Given the description of an element on the screen output the (x, y) to click on. 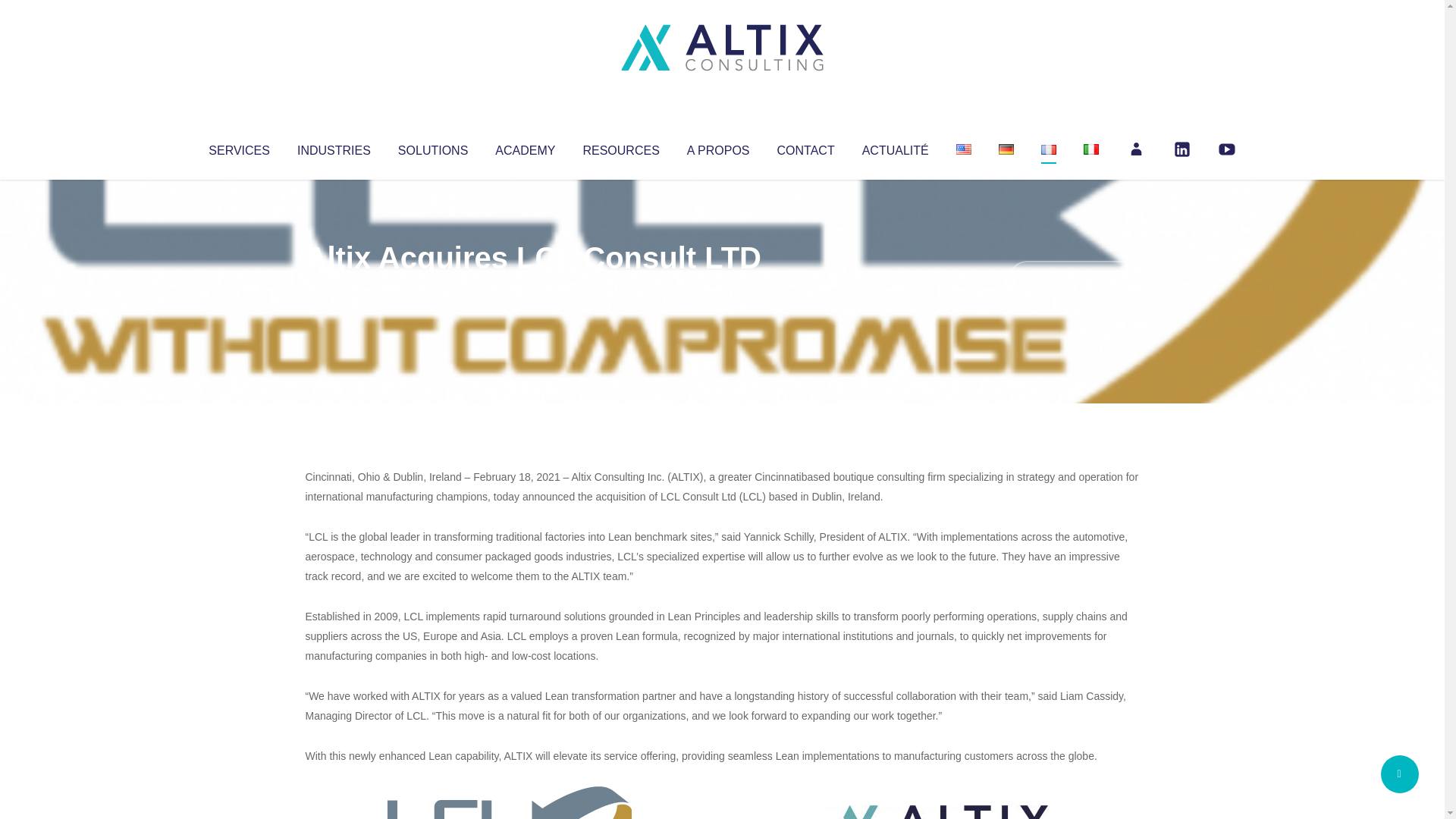
RESOURCES (620, 146)
Articles par Altix (333, 287)
ACADEMY (524, 146)
SERVICES (238, 146)
SOLUTIONS (432, 146)
No Comments (1073, 278)
Altix (333, 287)
INDUSTRIES (334, 146)
Uncategorized (530, 287)
A PROPOS (718, 146)
